Given the description of an element on the screen output the (x, y) to click on. 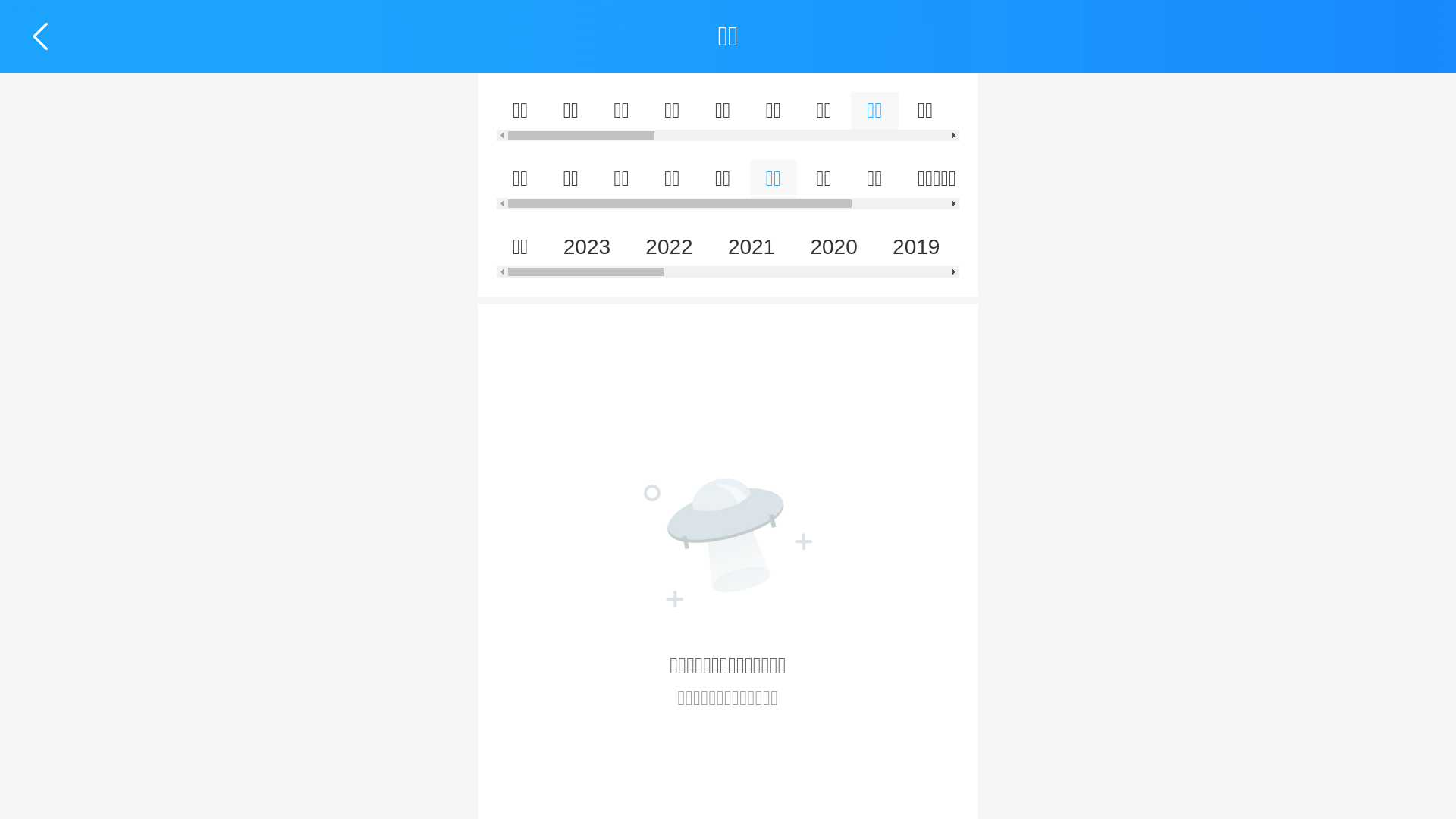
2019 Element type: text (915, 247)
2023 Element type: text (586, 247)
2018 Element type: text (998, 247)
2017 Element type: text (1080, 247)
2016 Element type: text (1162, 247)
2015 Element type: text (1244, 247)
2021 Element type: text (751, 247)
2014 Element type: text (1327, 247)
2022 Element type: text (668, 247)
2013 Element type: text (1410, 247)
2020 Element type: text (833, 247)
